Given the description of an element on the screen output the (x, y) to click on. 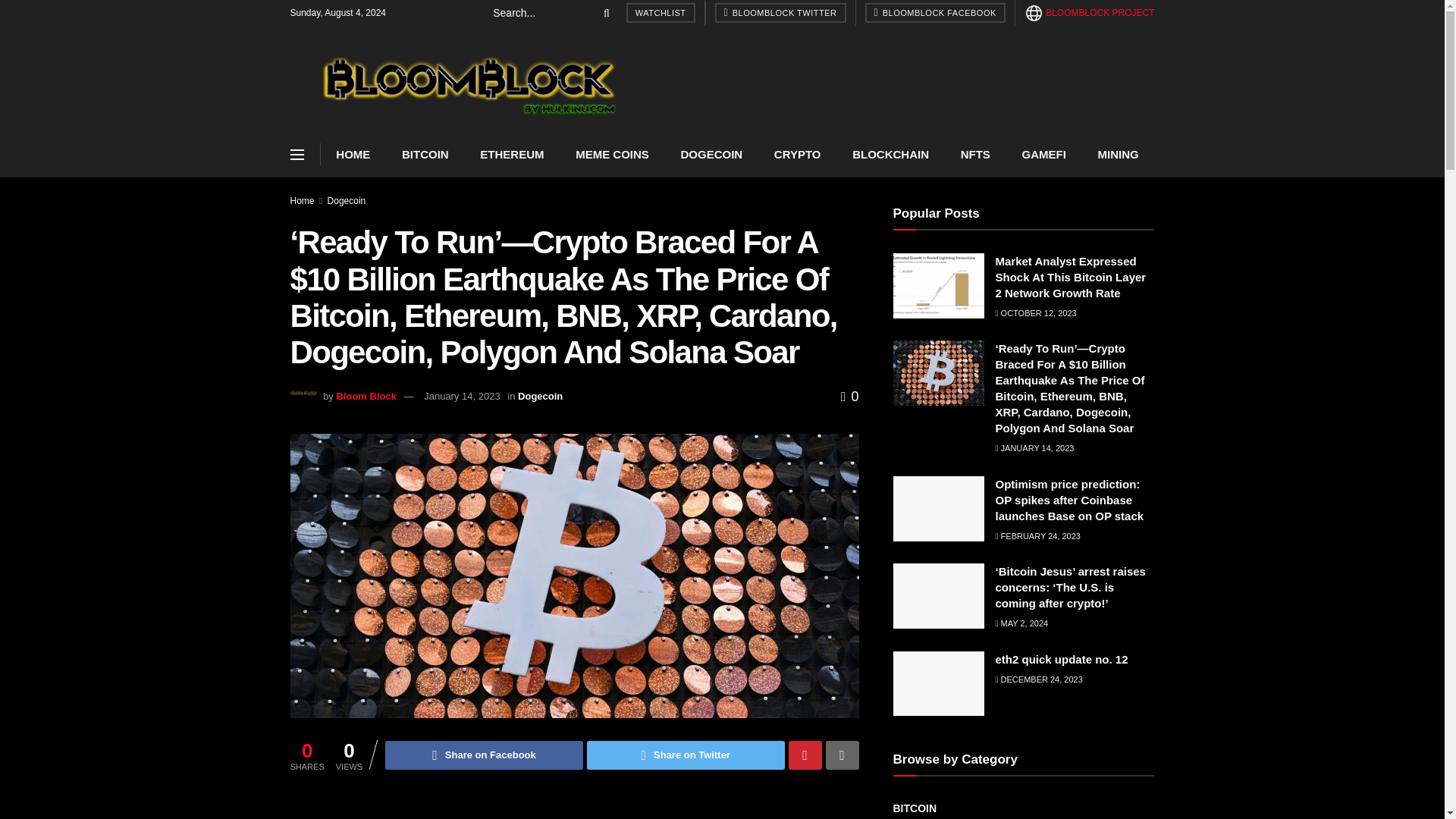
MEME COINS (611, 154)
Bloom Block (366, 396)
Home (301, 200)
HOME (352, 154)
MINING (1117, 154)
CRYPTO (796, 154)
BLOCKCHAIN (889, 154)
Share on Facebook (484, 755)
BLOOMBLOCK PROJECT (1089, 12)
DOGECOIN (711, 154)
NFTS (975, 154)
BITCOIN (424, 154)
Dogecoin (540, 396)
Share on Twitter (685, 755)
ETHEREUM (511, 154)
